Given the description of an element on the screen output the (x, y) to click on. 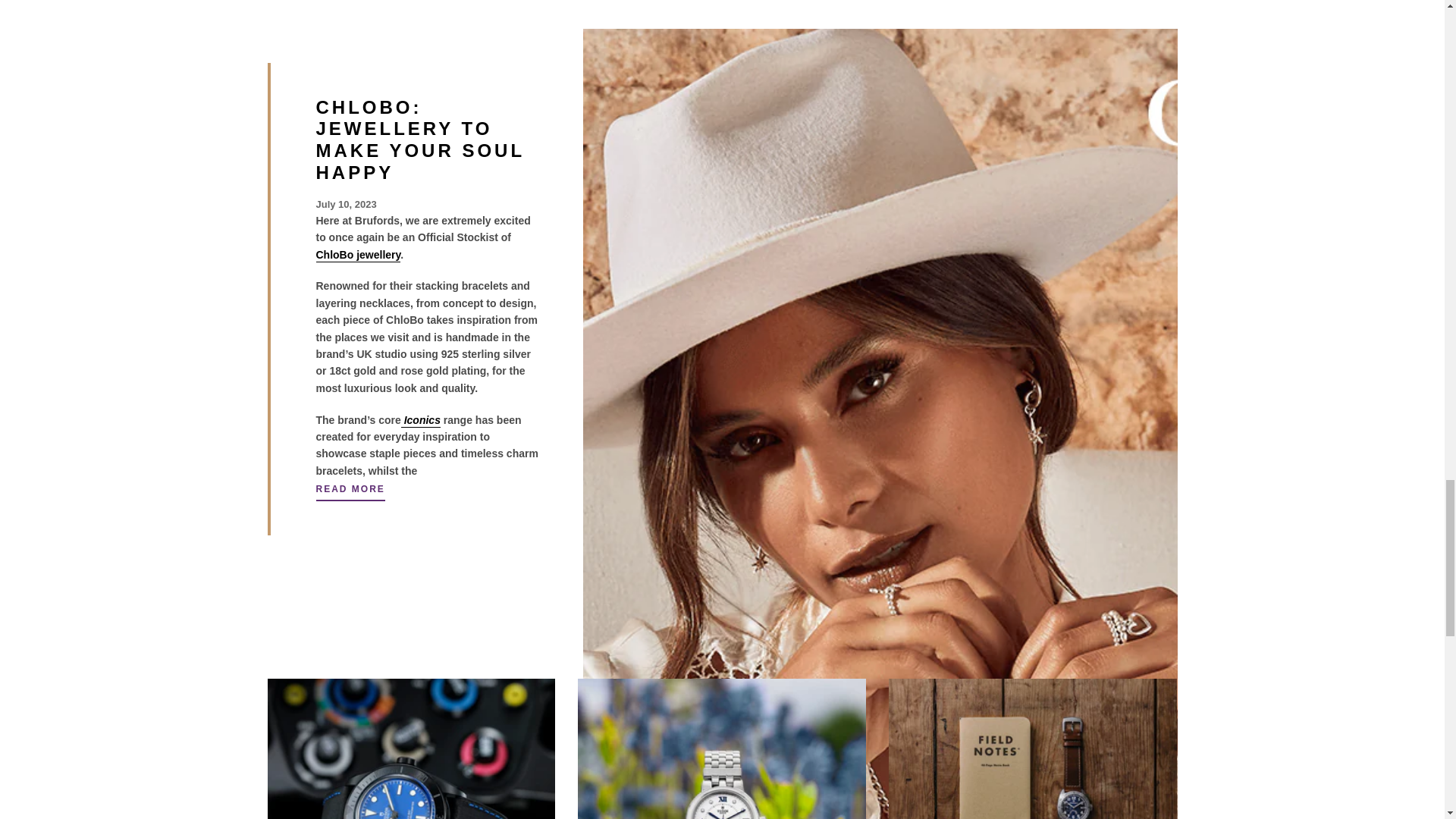
ChloBo Jewellery - Brufords Jewellers in Eastbourne (357, 255)
ChloBo Iconics - Brufords Jewellers in Eastbourne (402, 420)
